Given the description of an element on the screen output the (x, y) to click on. 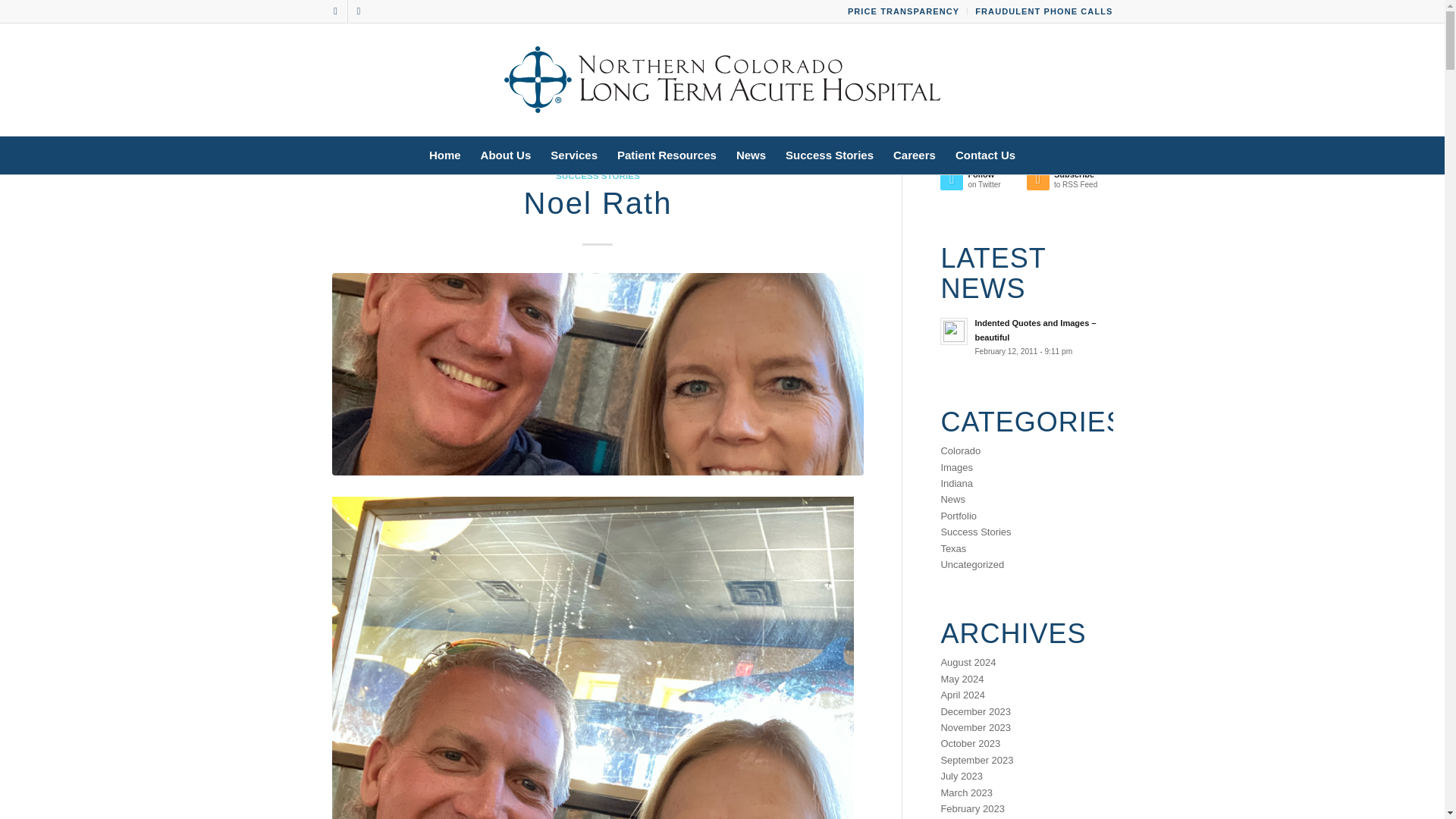
Success Stories (829, 155)
Contact Us (984, 155)
Noel-and-Vicky-Rath (597, 373)
PRICE TRANSPARENCY (903, 11)
News (751, 155)
Patient Resources (666, 155)
Services (573, 155)
FRAUDULENT PHONE CALLS (1043, 11)
Facebook (335, 11)
Permanent Link: Noel Rath (596, 203)
